Given the description of an element on the screen output the (x, y) to click on. 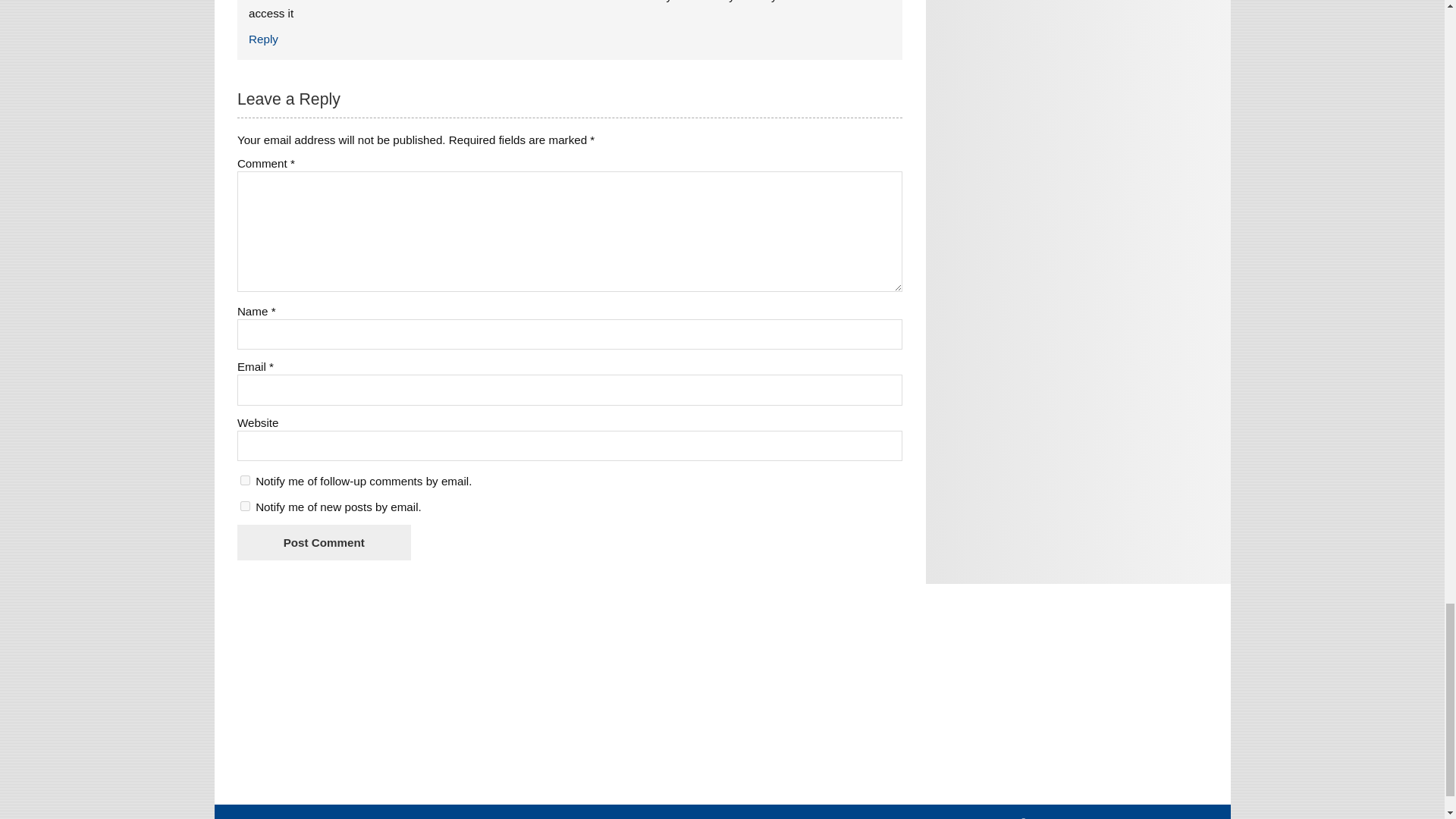
Reply (263, 38)
Post Comment (323, 542)
subscribe (245, 506)
Post Comment (323, 542)
subscribe (245, 480)
